Given the description of an element on the screen output the (x, y) to click on. 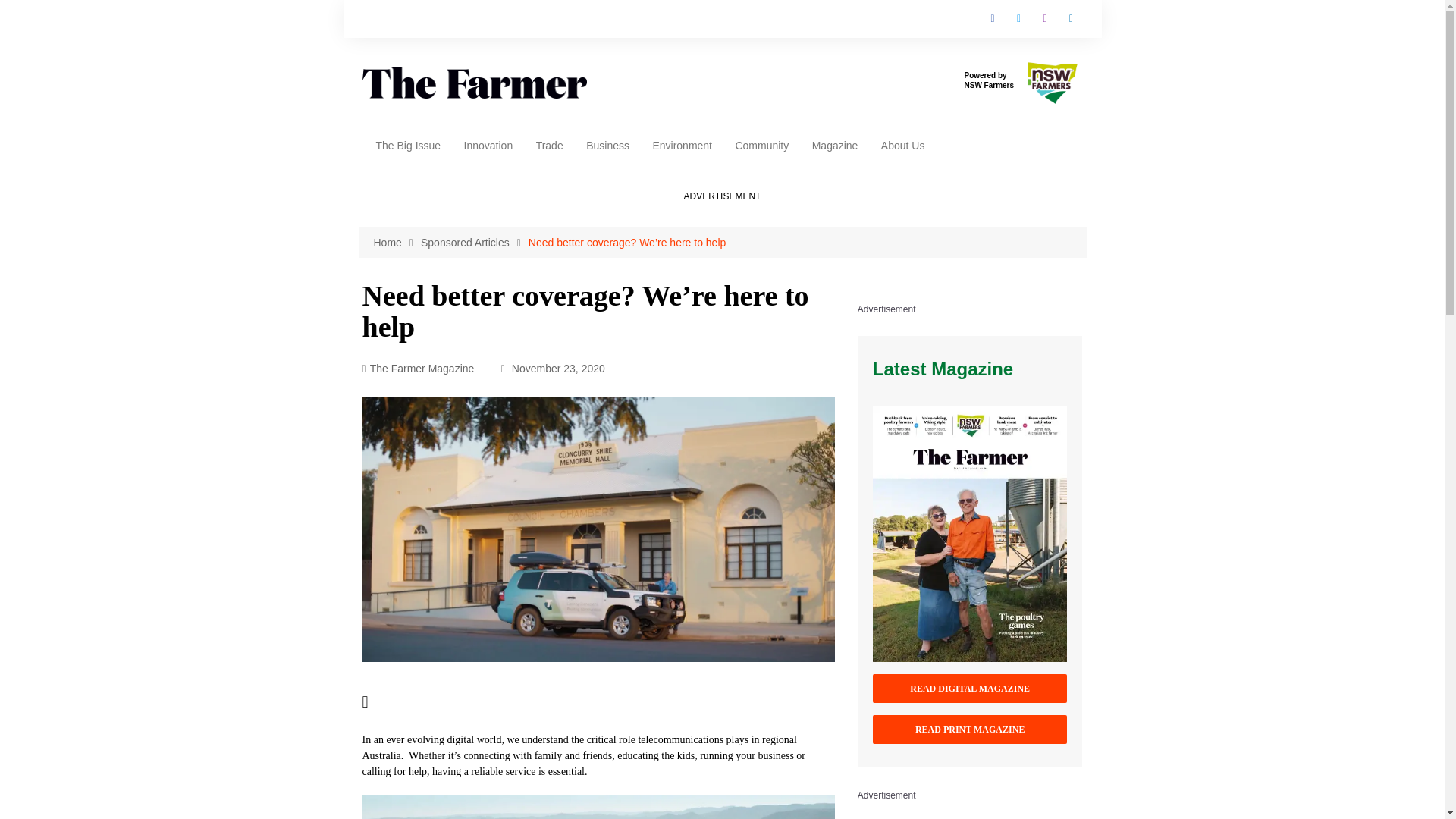
Innovation (488, 144)
The Big Issue (407, 144)
Business (607, 144)
Home (396, 242)
November 23, 2020 (552, 368)
The Farmer Magazine (418, 368)
Magazine (834, 144)
Instagram (1045, 18)
Linkedin (1070, 18)
About Us (902, 144)
